Given the description of an element on the screen output the (x, y) to click on. 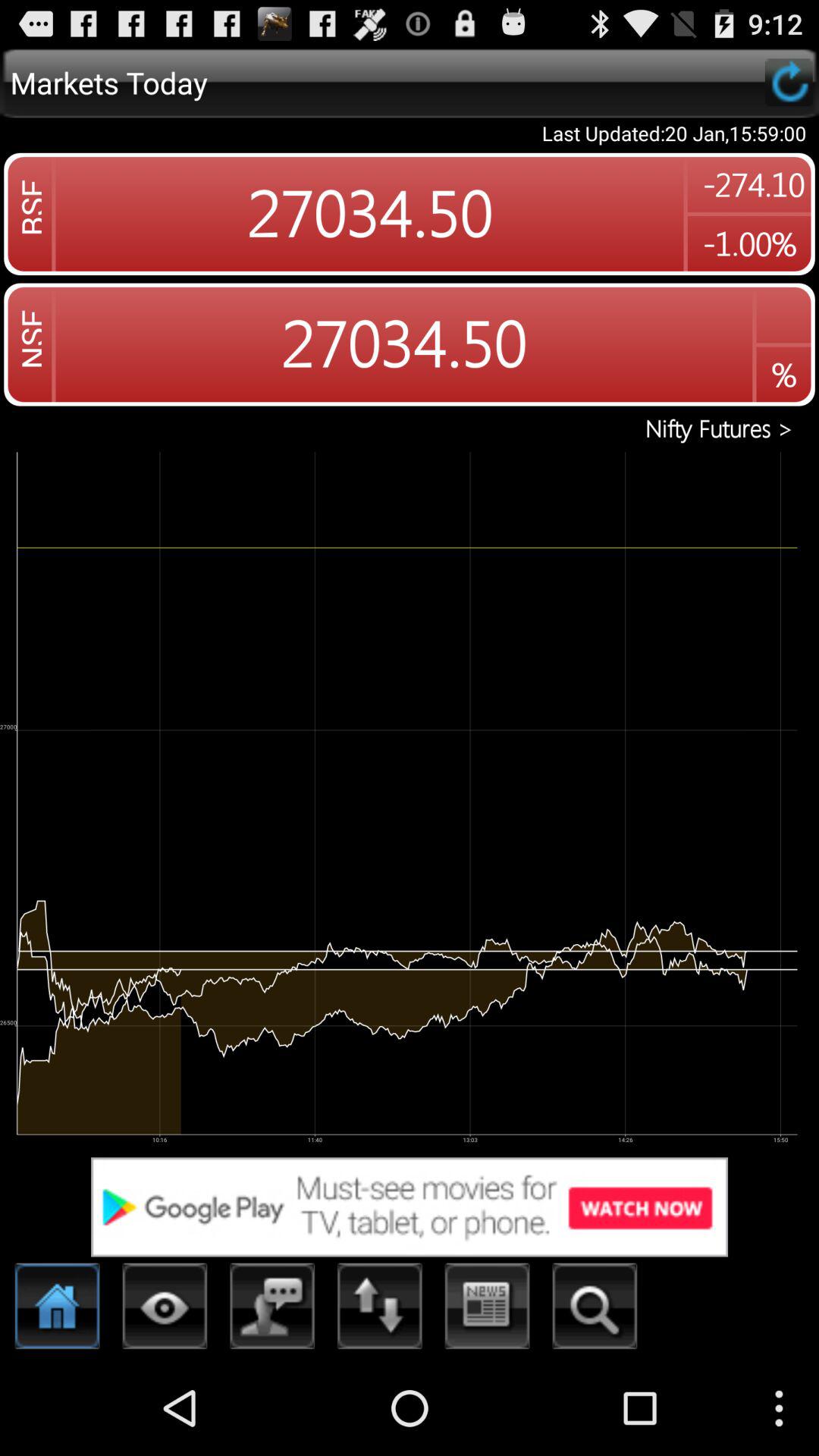
refresh data (788, 82)
